Given the description of an element on the screen output the (x, y) to click on. 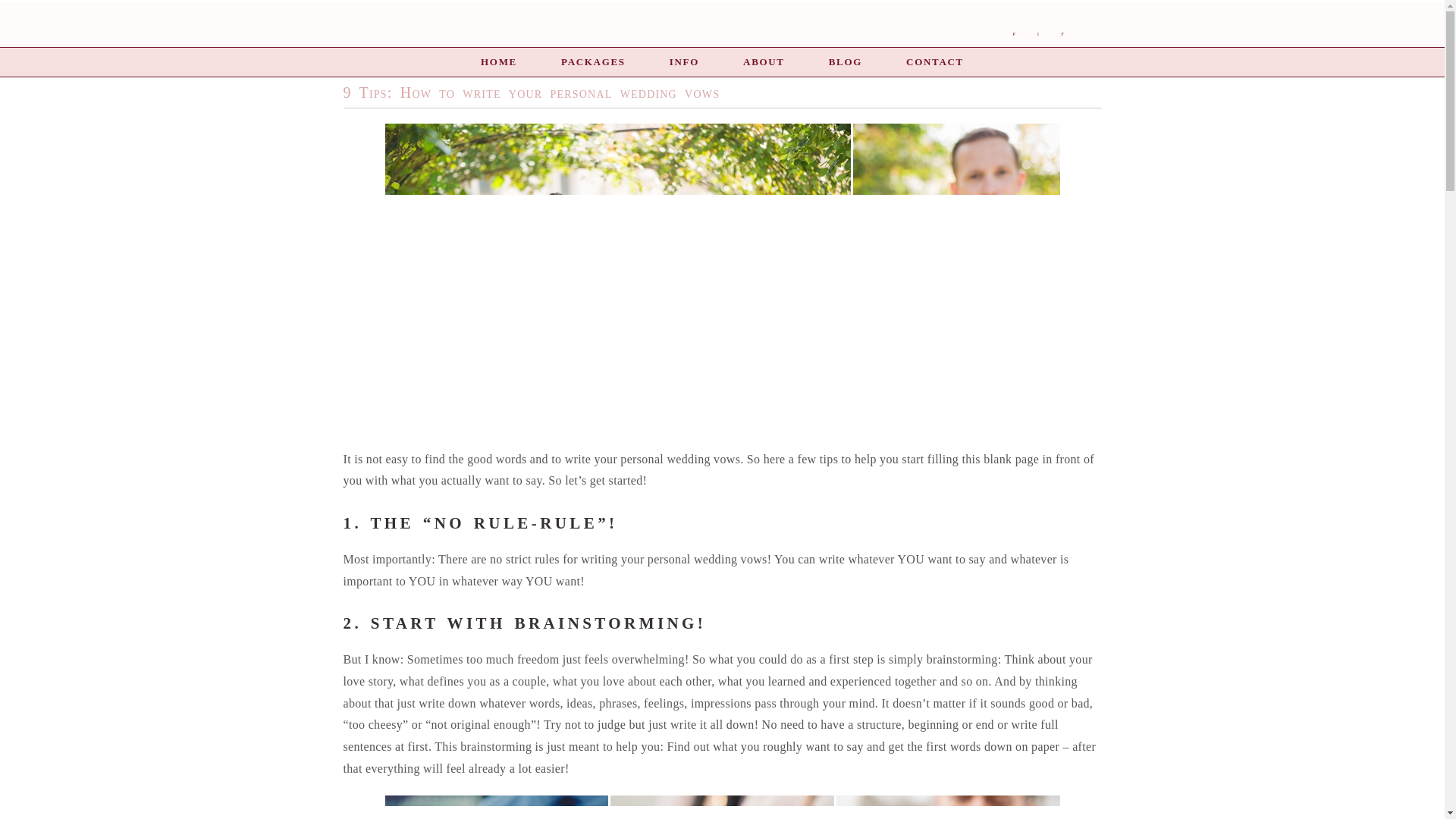
BLOG (844, 61)
ABOUT (763, 61)
I (1037, 35)
F (1062, 35)
HOME (498, 61)
CONTACT (934, 61)
P (1014, 35)
PACKAGES (593, 61)
